Given the description of an element on the screen output the (x, y) to click on. 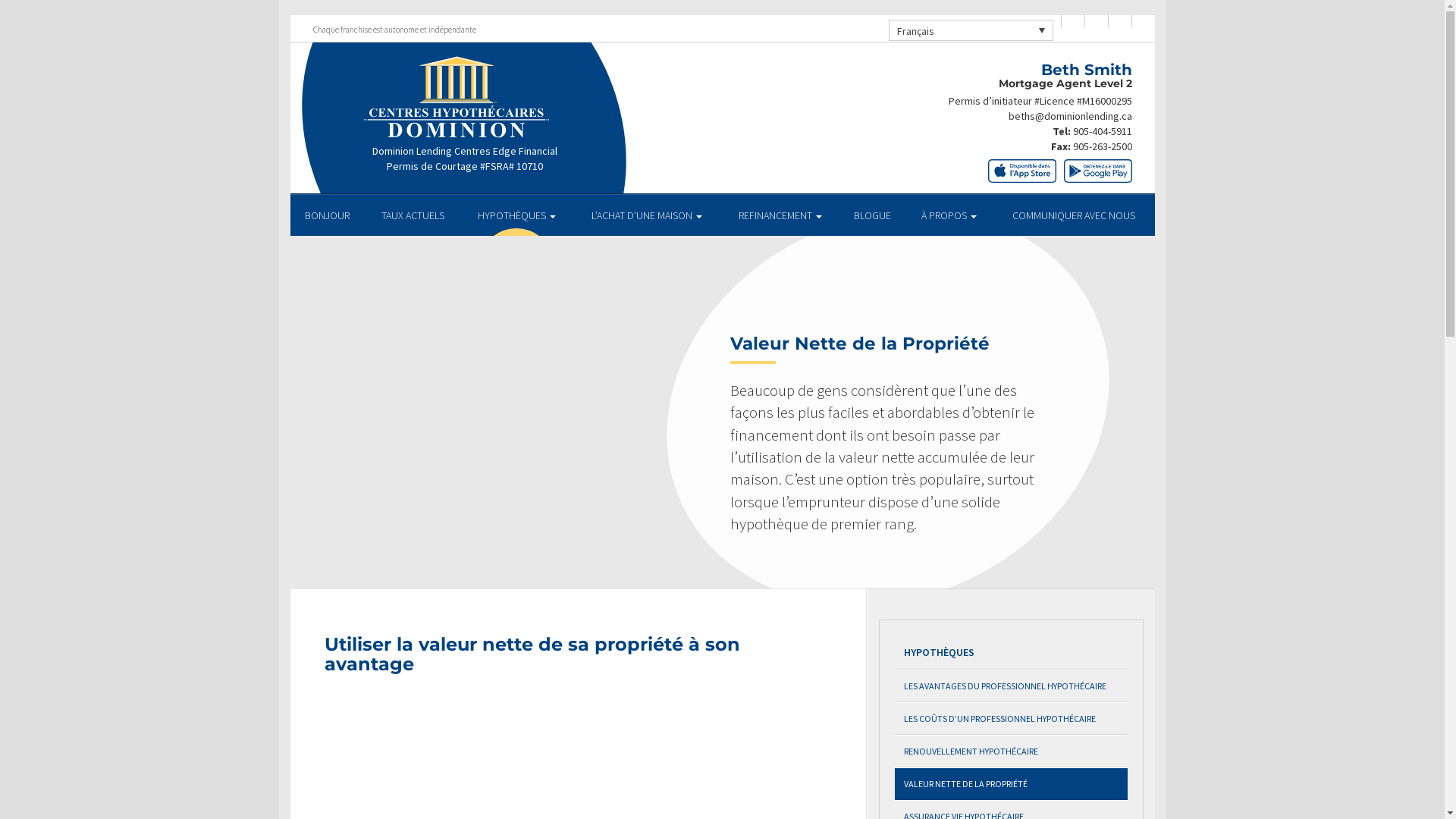
REFINANCEMENT Element type: text (780, 214)
BLOGUE Element type: text (872, 214)
beths@dominionlending.ca Element type: text (1070, 115)
BONJOUR Element type: text (326, 214)
TAUX ACTUELS Element type: text (412, 214)
905-263-2500 Element type: text (1101, 146)
COMMUNIQUER AVEC NOUS Element type: text (1073, 214)
905-404-5911 Element type: text (1101, 131)
